Given the description of an element on the screen output the (x, y) to click on. 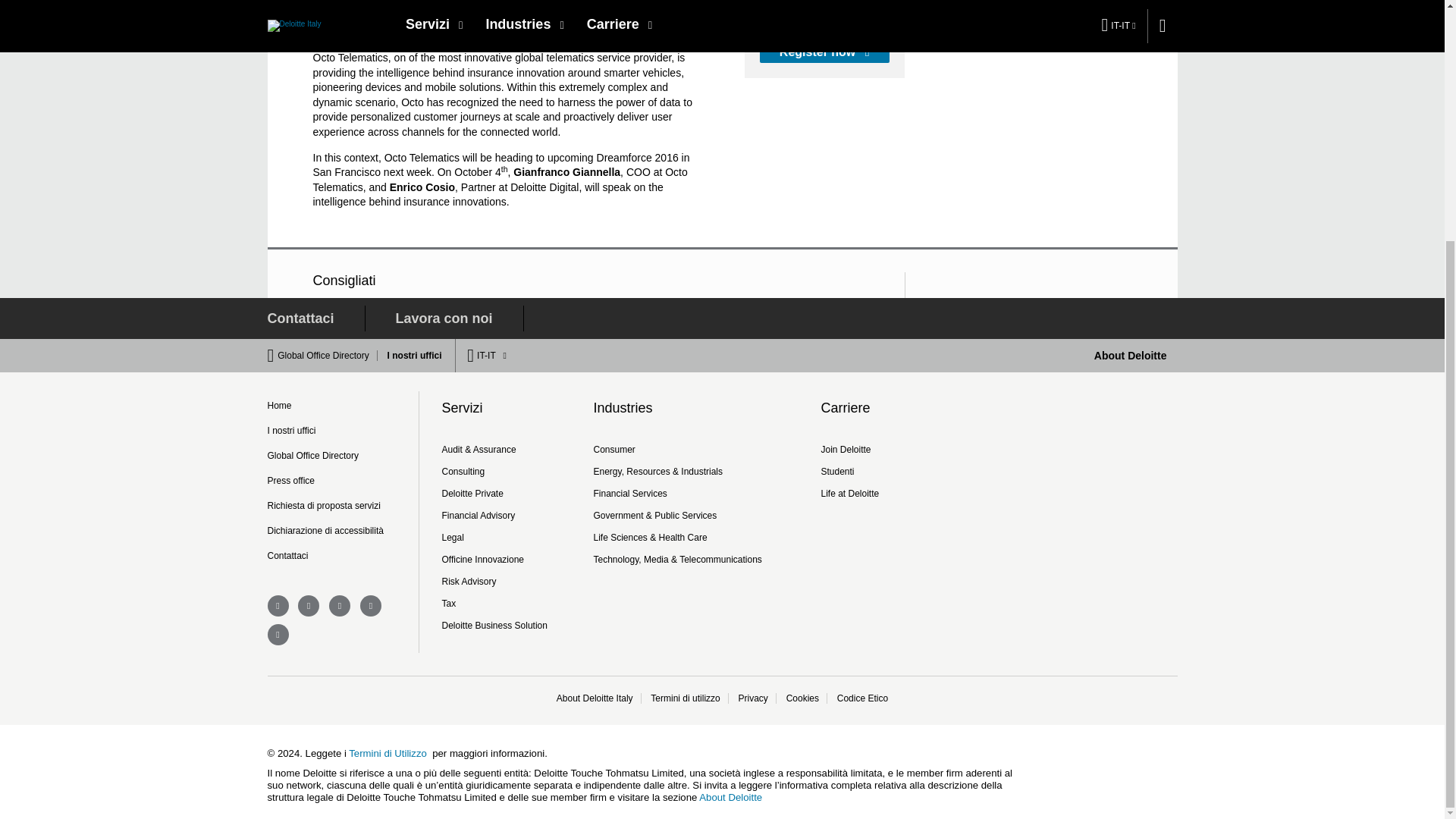
I nostri uffici (411, 355)
Global Office Directory (327, 355)
About Deloitte (1130, 355)
facebook  (277, 605)
twitter (308, 605)
linkedin (339, 605)
instagram (277, 634)
youtube (370, 605)
